Given the description of an element on the screen output the (x, y) to click on. 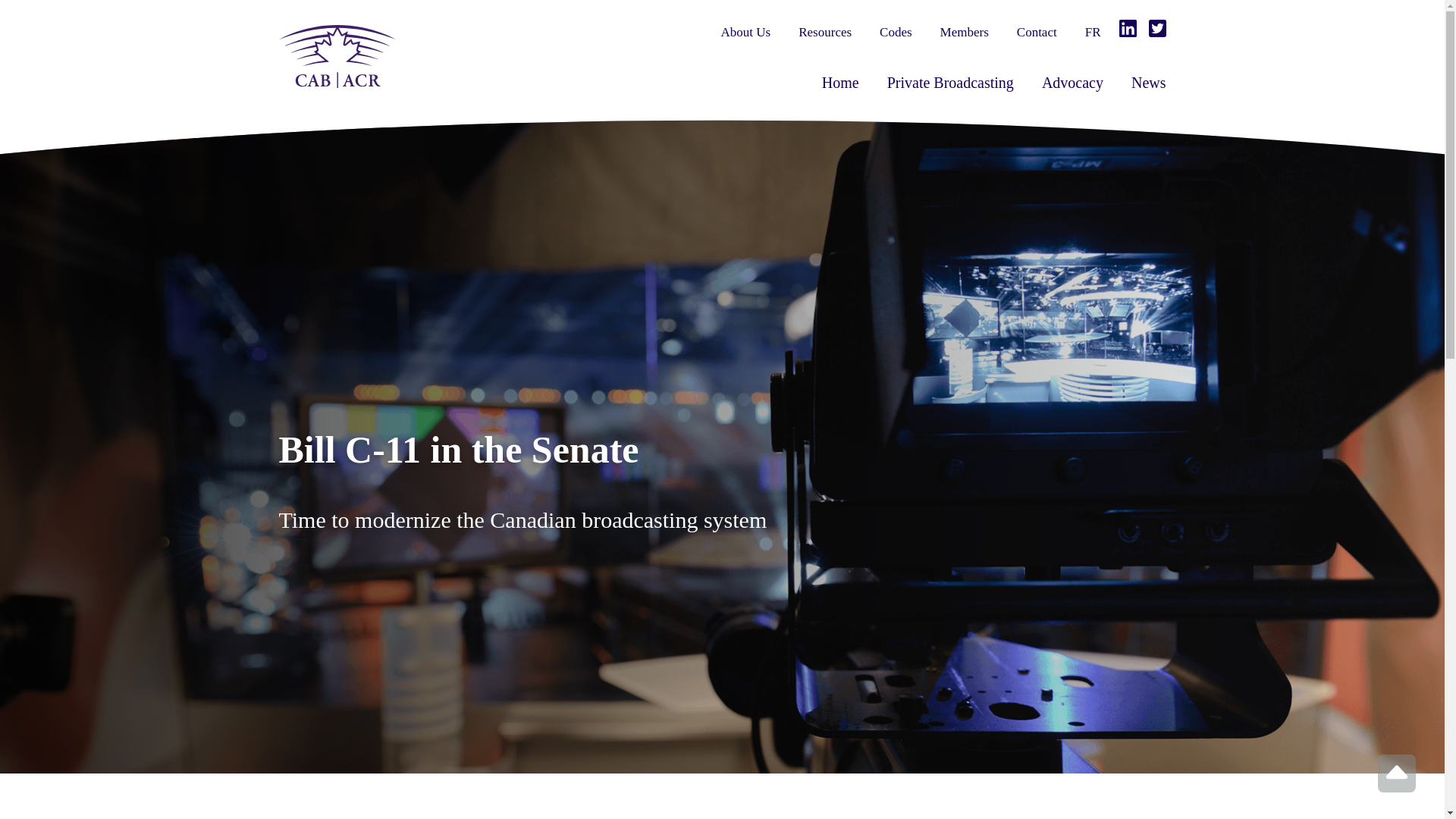
About Us (745, 32)
News (1148, 82)
Members (964, 32)
Resources (824, 32)
Private Broadcasting (949, 82)
Home (840, 82)
FR (1092, 32)
Codes (895, 32)
Advocacy (1072, 82)
Contact (1036, 32)
